Given the description of an element on the screen output the (x, y) to click on. 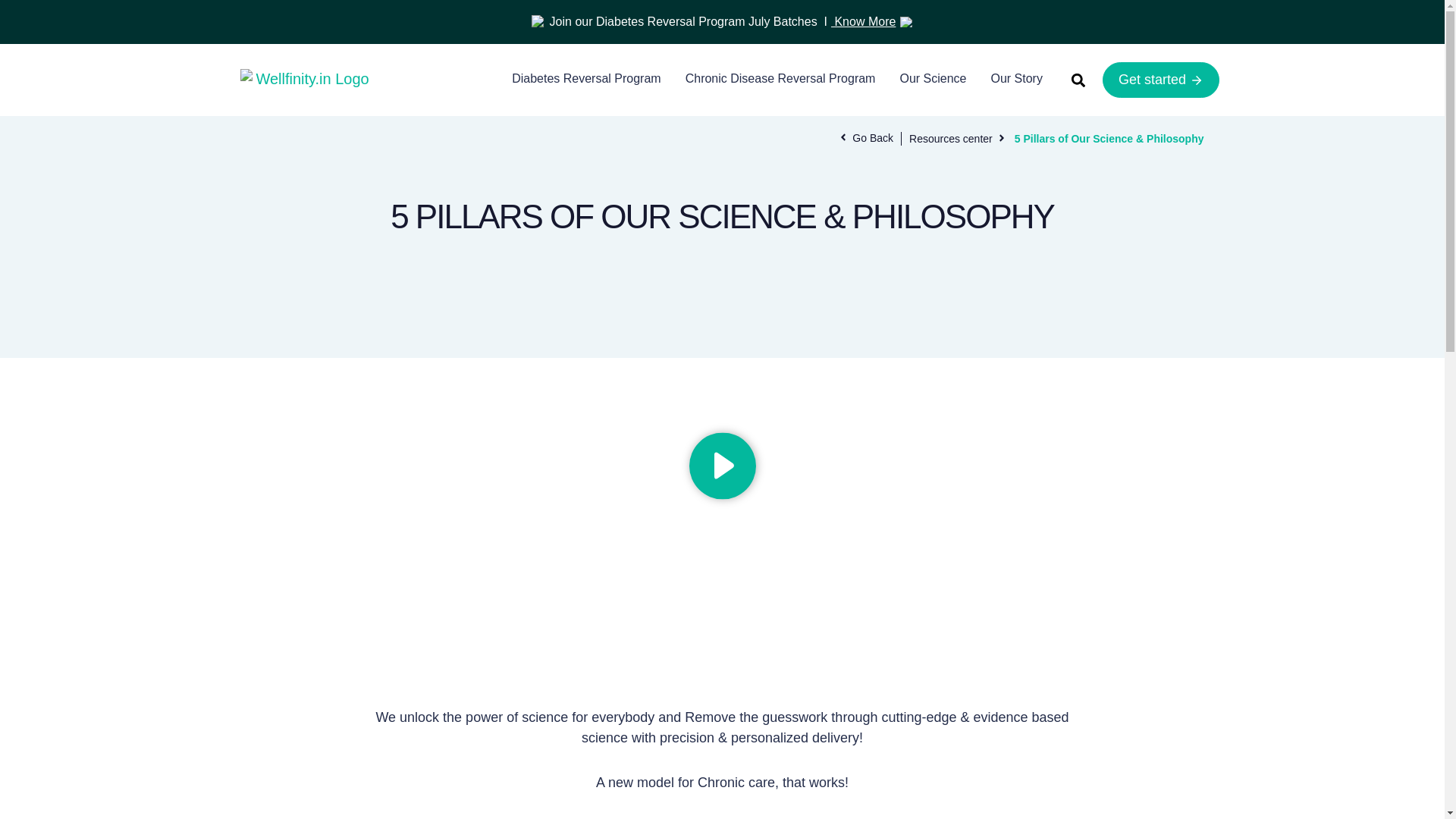
Chronic Disease Reversal Program (780, 78)
Diabetes Reversal Program (585, 78)
Our Science (932, 78)
Our Story (1016, 78)
 Know More (863, 21)
